Given the description of an element on the screen output the (x, y) to click on. 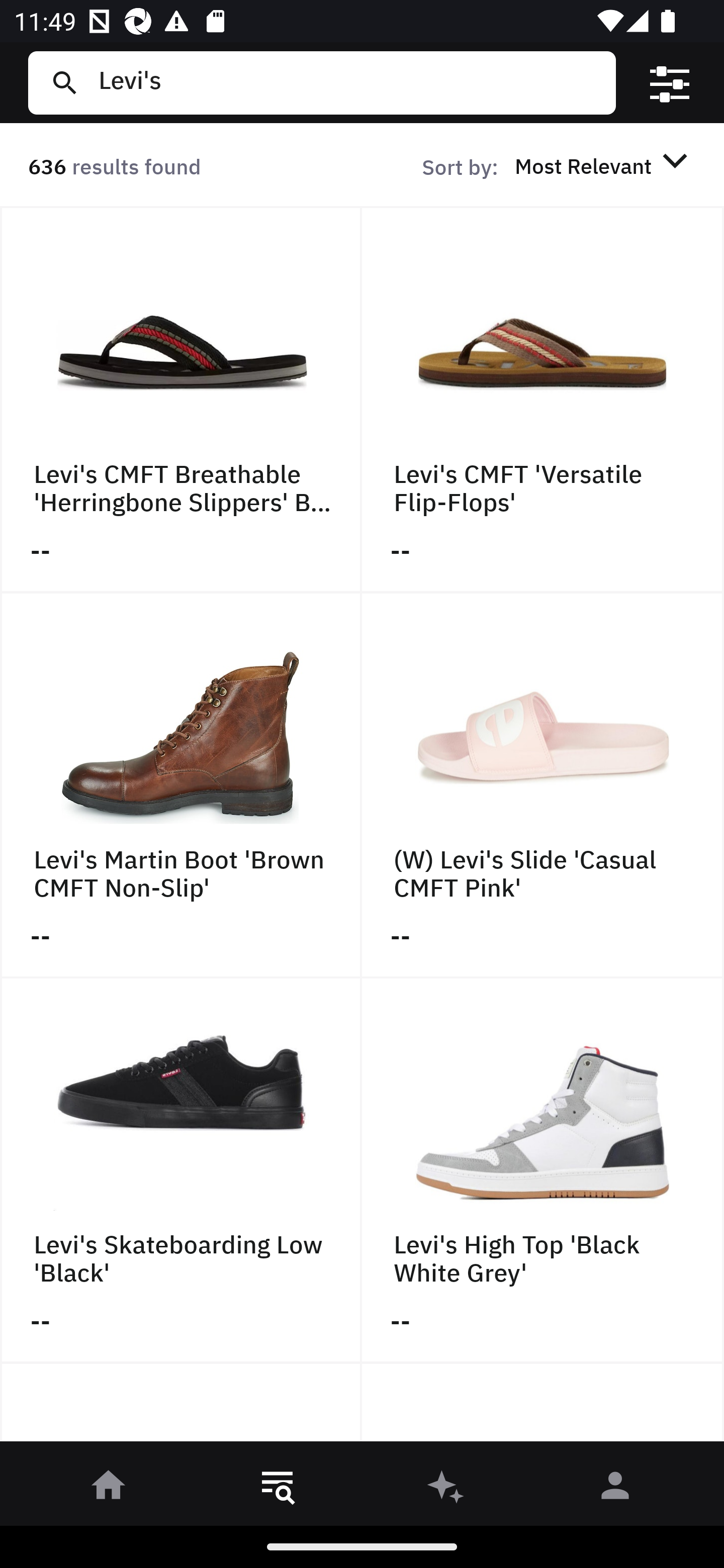
Levi's (349, 82)
 (669, 82)
Most Relevant  (604, 165)
Levi's CMFT 'Versatile Flip-Flops' -- (543, 399)
Levi's Martin Boot 'Brown CMFT Non-Slip' -- (181, 785)
(W) Levi's Slide 'Casual CMFT Pink' -- (543, 785)
Levi's Skateboarding Low 'Black' -- (181, 1171)
Levi's High Top 'Black White Grey' -- (543, 1171)
󰋜 (108, 1488)
󱎸 (277, 1488)
󰫢 (446, 1488)
󰀄 (615, 1488)
